Given the description of an element on the screen output the (x, y) to click on. 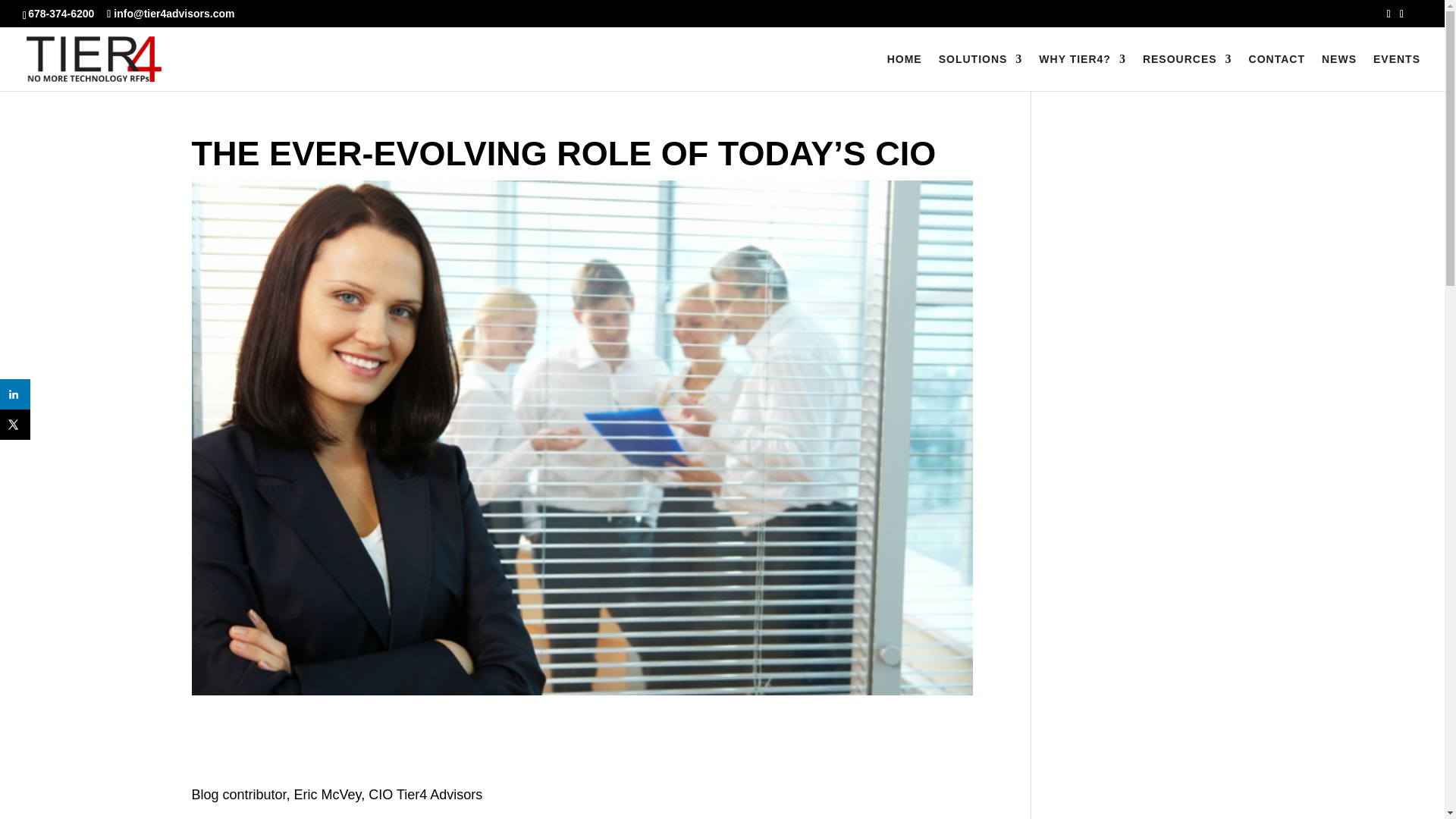
NEWS (1339, 72)
Share on LinkedIn (15, 394)
EVENTS (1397, 72)
RESOURCES (1186, 72)
CONTACT (1276, 72)
SOLUTIONS (981, 72)
Share on X (15, 424)
HOME (903, 72)
WHY TIER4? (1082, 72)
SOLUTIONS (989, 72)
